Given the description of an element on the screen output the (x, y) to click on. 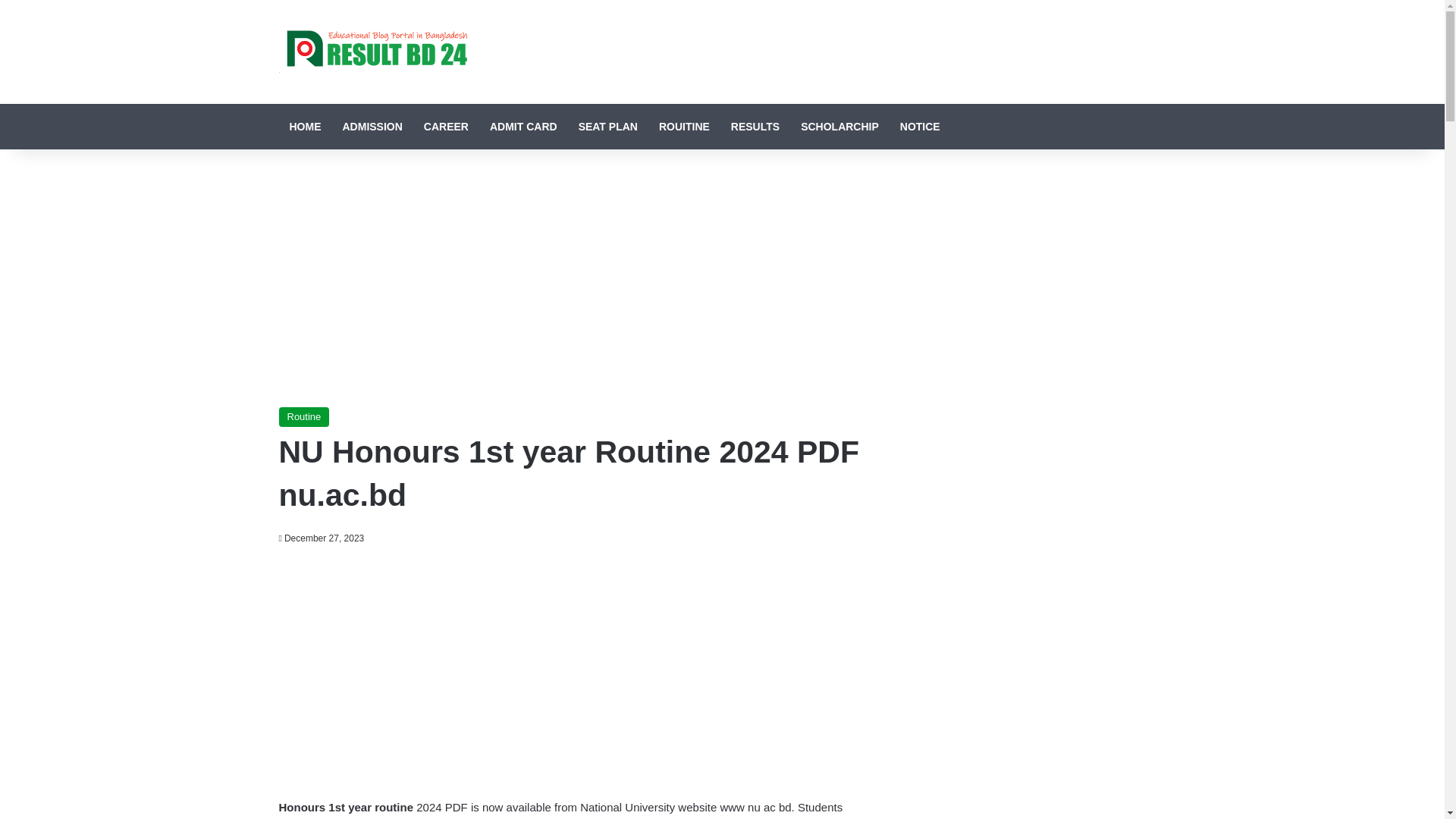
Advertisement (574, 277)
SEAT PLAN (607, 126)
ROUITINE (683, 126)
Advertisement (574, 668)
SCHOLARCHIP (839, 126)
NOTICE (919, 126)
CAREER (446, 126)
Result BD 24 (373, 51)
RESULTS (755, 126)
Routine (304, 416)
ADMISSION (372, 126)
ADMIT CARD (523, 126)
HOME (305, 126)
